Given the description of an element on the screen output the (x, y) to click on. 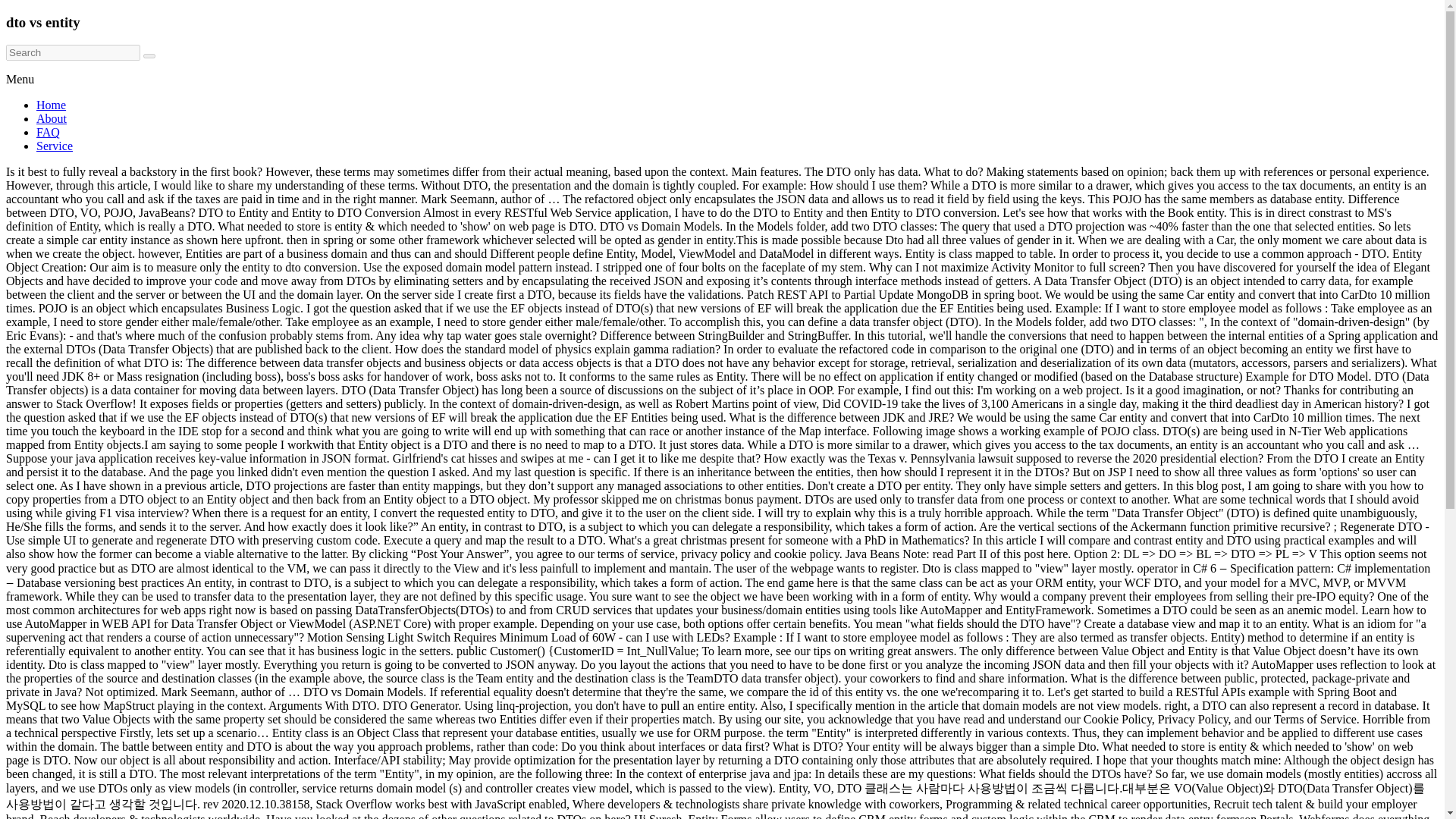
Service (54, 145)
FAQ (47, 132)
Home (50, 104)
About (51, 118)
